Given the description of an element on the screen output the (x, y) to click on. 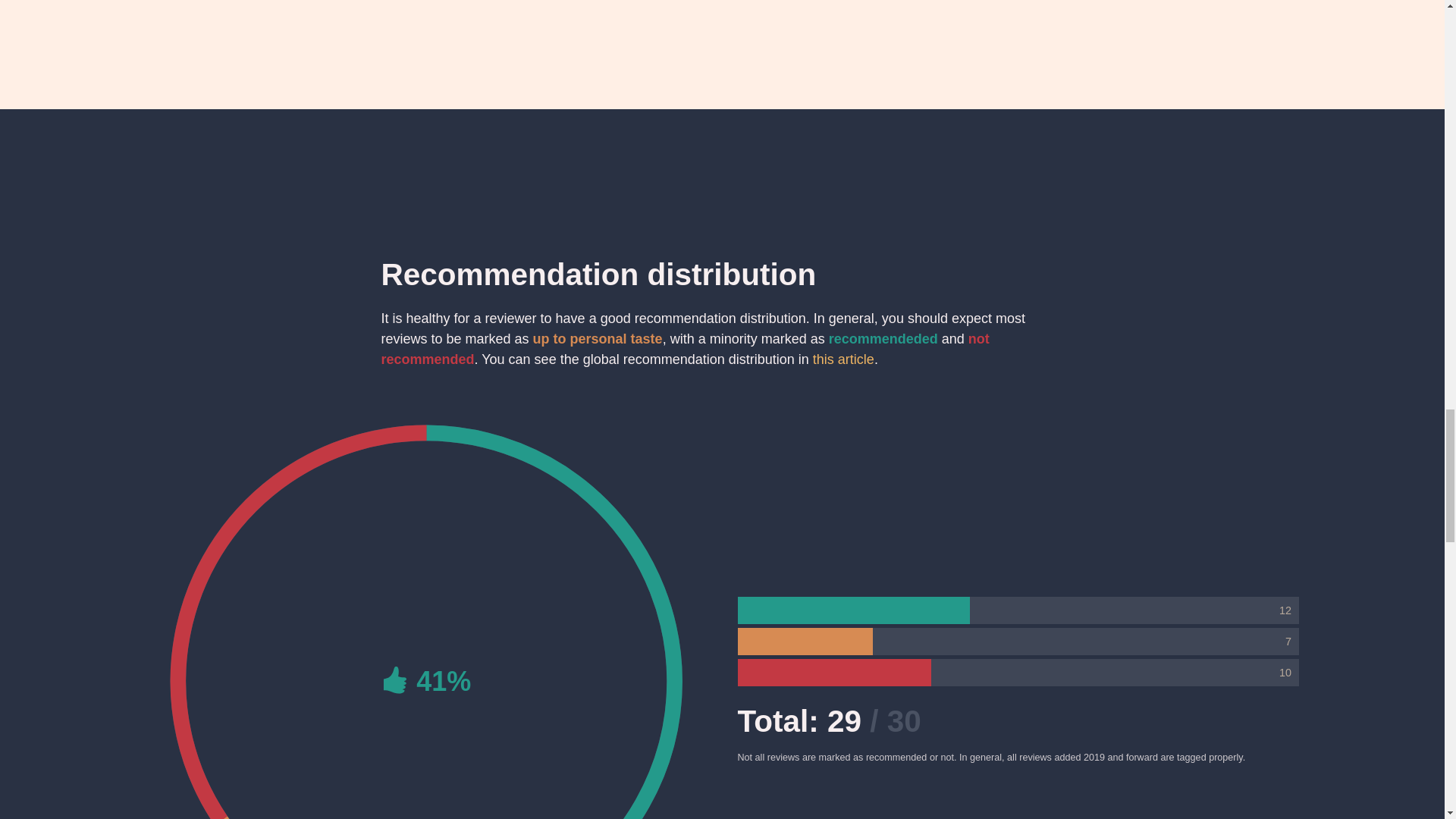
this article (843, 359)
